Given the description of an element on the screen output the (x, y) to click on. 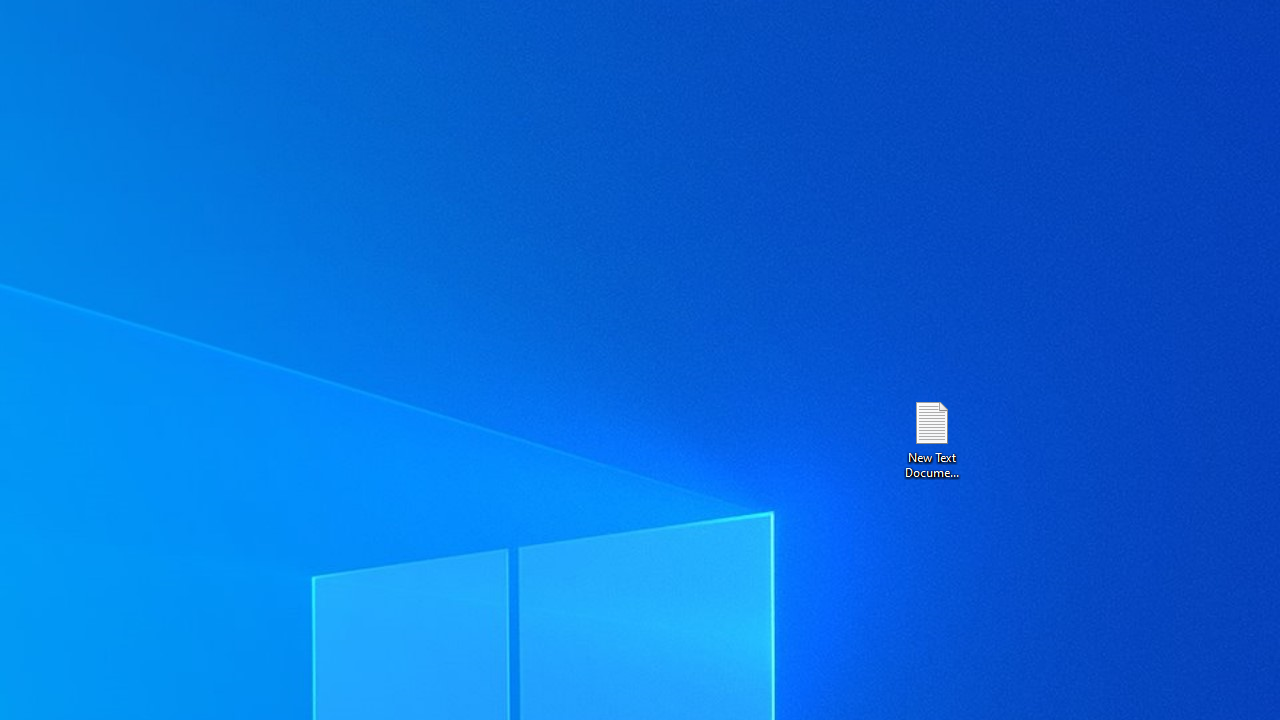
New Text Document (2) (931, 438)
